Given the description of an element on the screen output the (x, y) to click on. 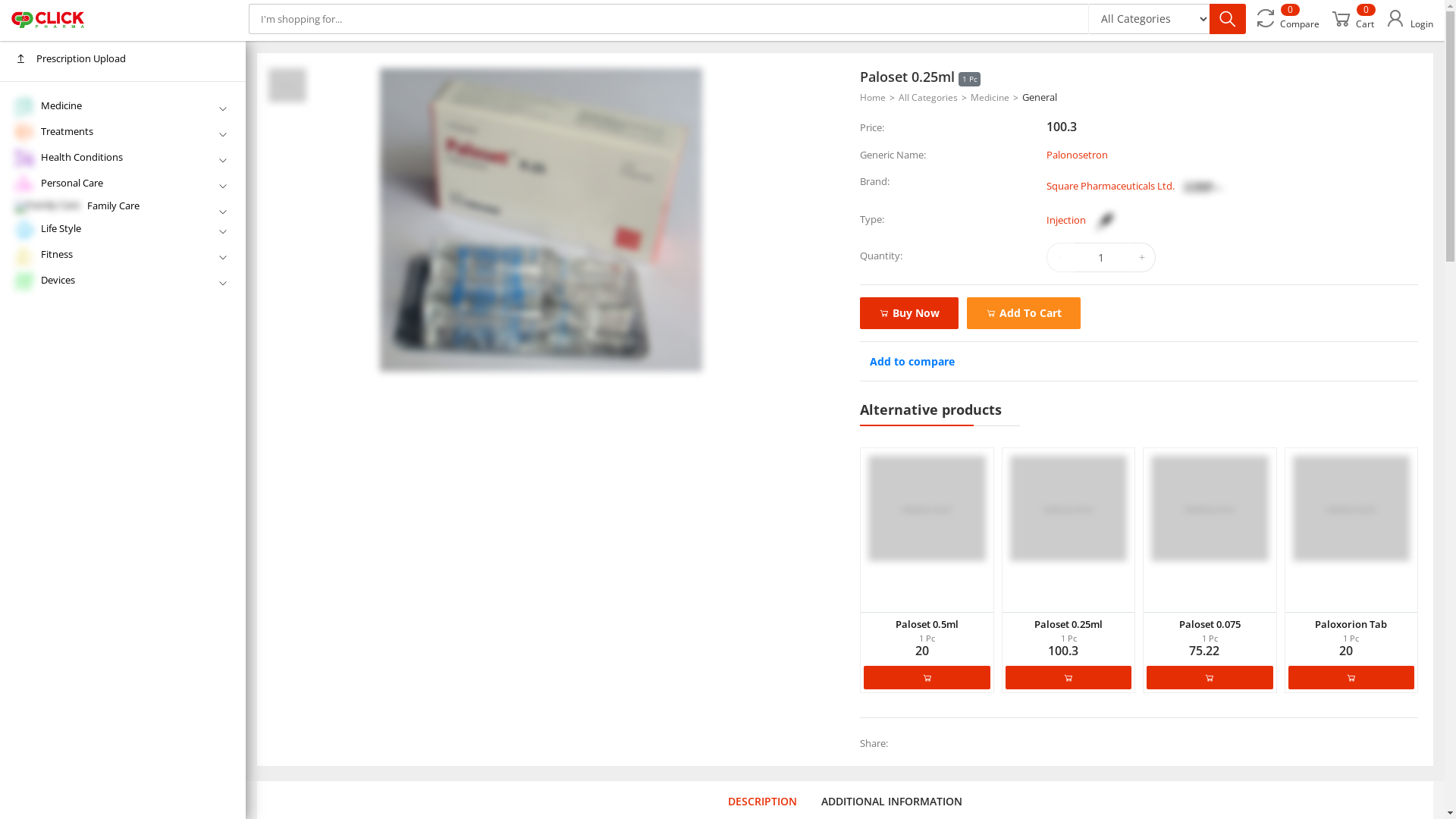
Home Element type: text (876, 97)
Paloset 0.075 Element type: hover (1209, 508)
Personal Care Element type: text (122, 184)
Health Conditions Element type: text (122, 158)
Paloset 0.5ml Element type: hover (926, 508)
Palonosetron Element type: text (1076, 153)
Login Element type: text (1408, 18)
Devices Element type: text (122, 281)
Buy Now Element type: text (908, 313)
Treatments Element type: text (122, 132)
Paloset 0.5ml Element type: text (926, 623)
Paloset 0.25ml Element type: text (1068, 623)
Family Care Element type: text (122, 206)
Fitness Element type: text (122, 255)
Add to cart Element type: hover (1209, 677)
Add to cart Element type: hover (1351, 677)
Injection Element type: text (1083, 219)
Square Pharmaceuticals Ltd. Element type: text (1138, 185)
Add To Cart Element type: text (1023, 313)
Life Style Element type: text (122, 229)
Paloxorion Tab Element type: text (1351, 623)
Paloset 0.075 Element type: text (1209, 623)
Prescription Upload Element type: text (122, 59)
Add to cart Element type: hover (1068, 677)
Add to cart Element type: hover (926, 677)
Medicine Element type: text (122, 106)
Medicine Element type: text (994, 97)
Cart
0 Element type: text (1351, 18)
Compare
0 Element type: text (1286, 18)
Add to compare Element type: text (911, 361)
All Categories Element type: text (932, 97)
Paloset 0.25ml Element type: hover (1068, 508)
Paloxorion Tab Element type: hover (1351, 508)
